Given the description of an element on the screen output the (x, y) to click on. 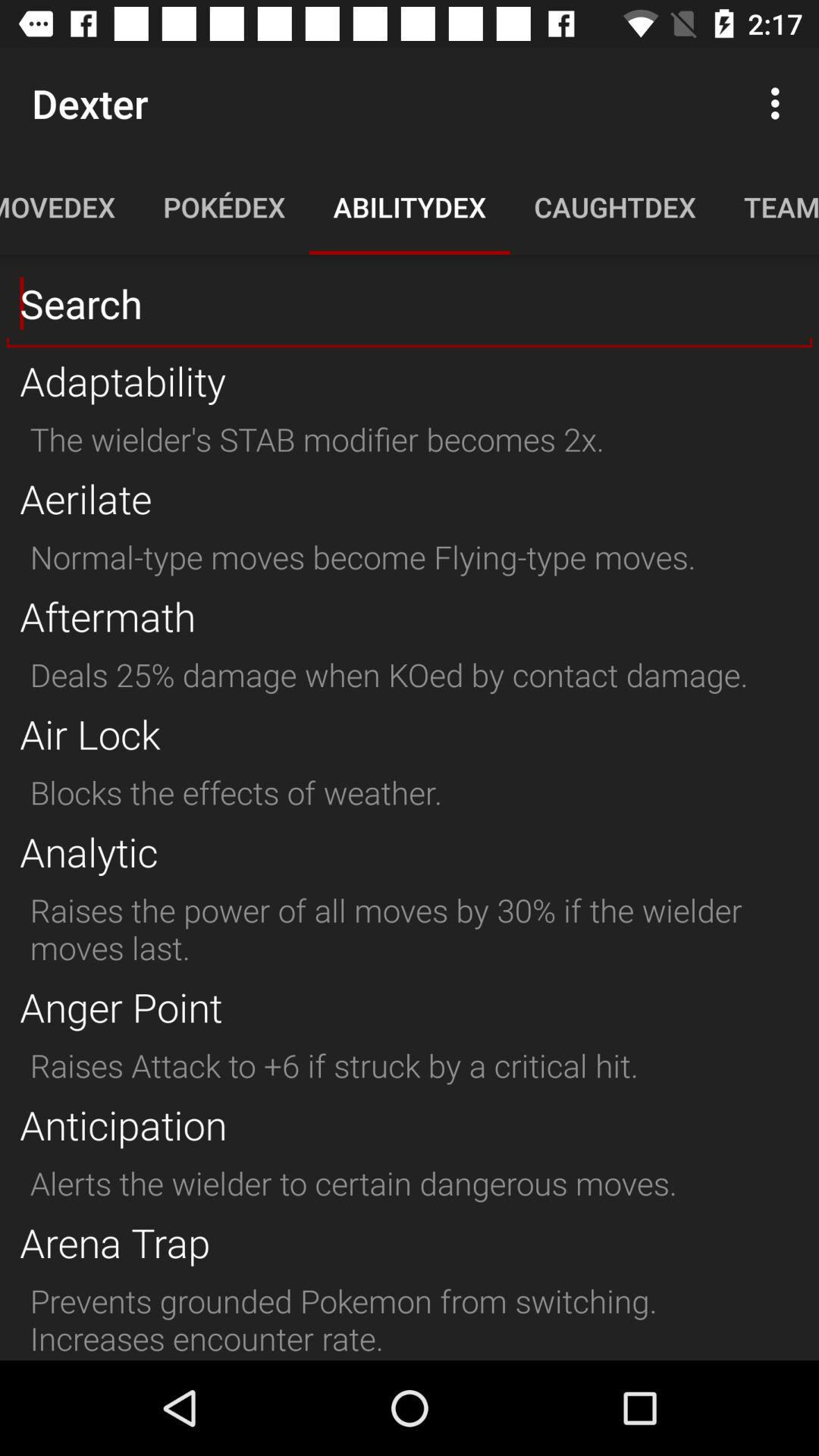
click the app next to dexter icon (779, 103)
